Given the description of an element on the screen output the (x, y) to click on. 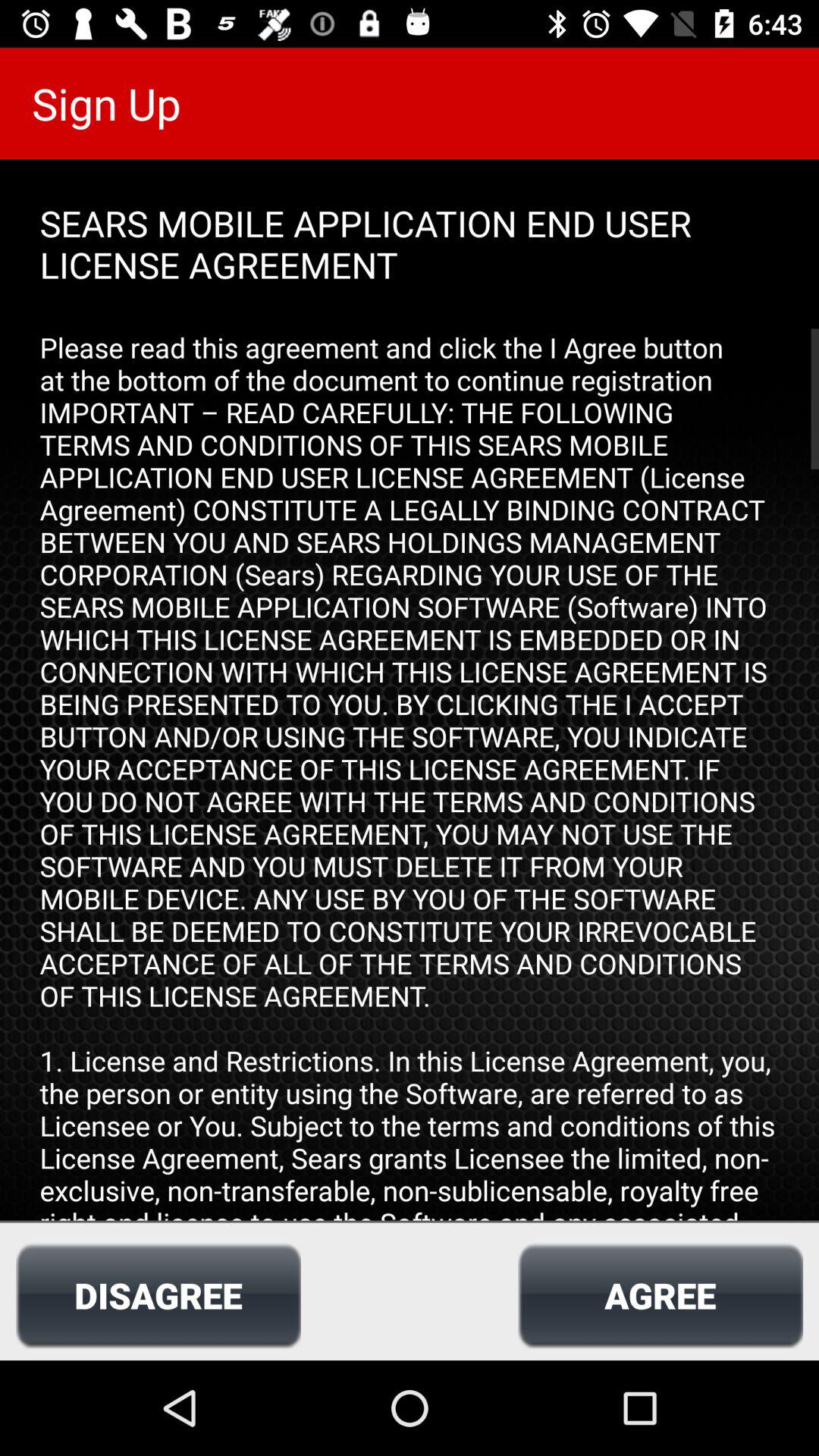
jump until disagree (157, 1295)
